Given the description of an element on the screen output the (x, y) to click on. 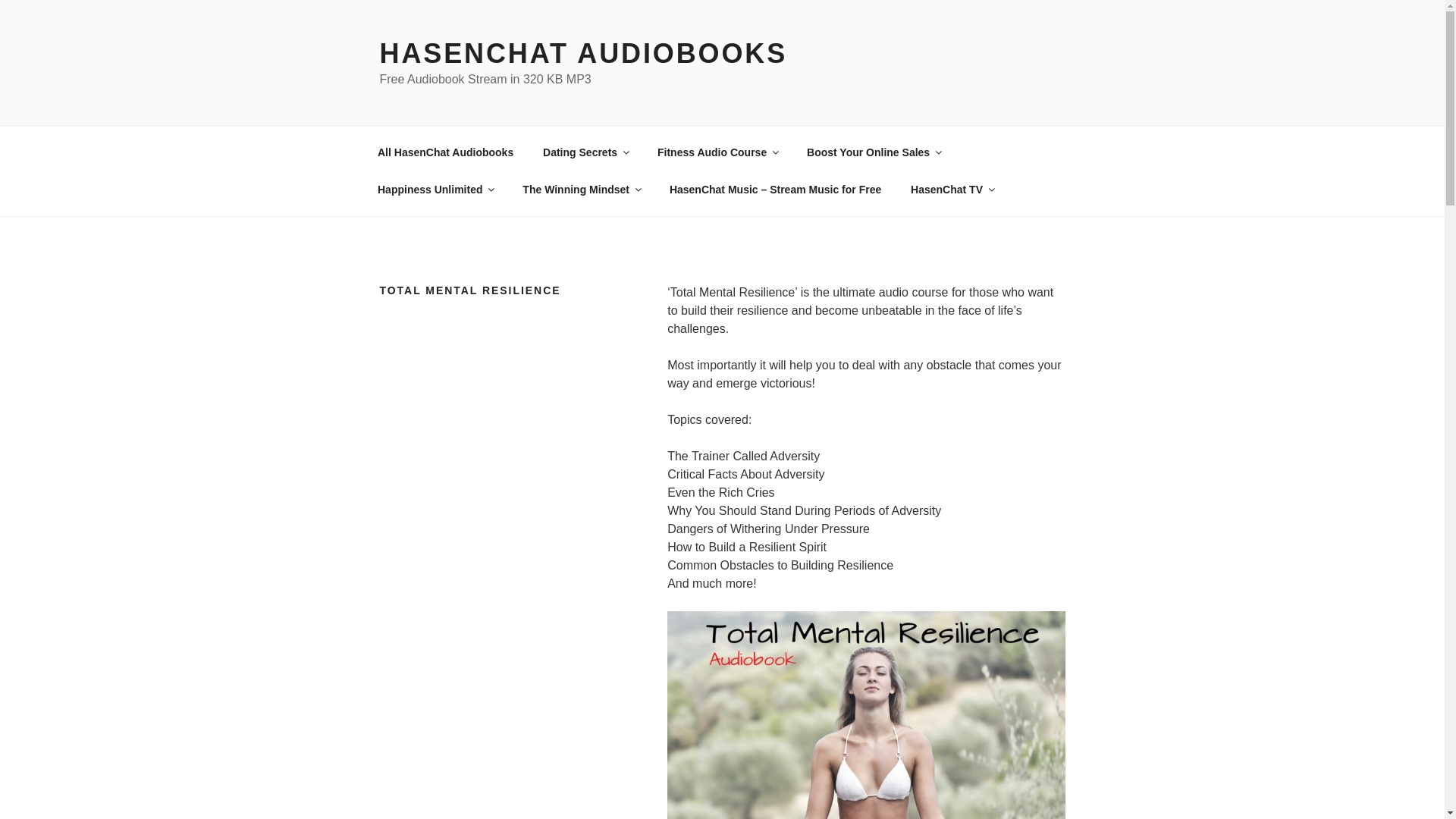
Dating Secrets (585, 151)
All HasenChat Audiobooks (444, 151)
Boost Your Online Sales (873, 151)
Fitness Audio Course (717, 151)
HASENCHAT AUDIOBOOKS (582, 52)
